Given the description of an element on the screen output the (x, y) to click on. 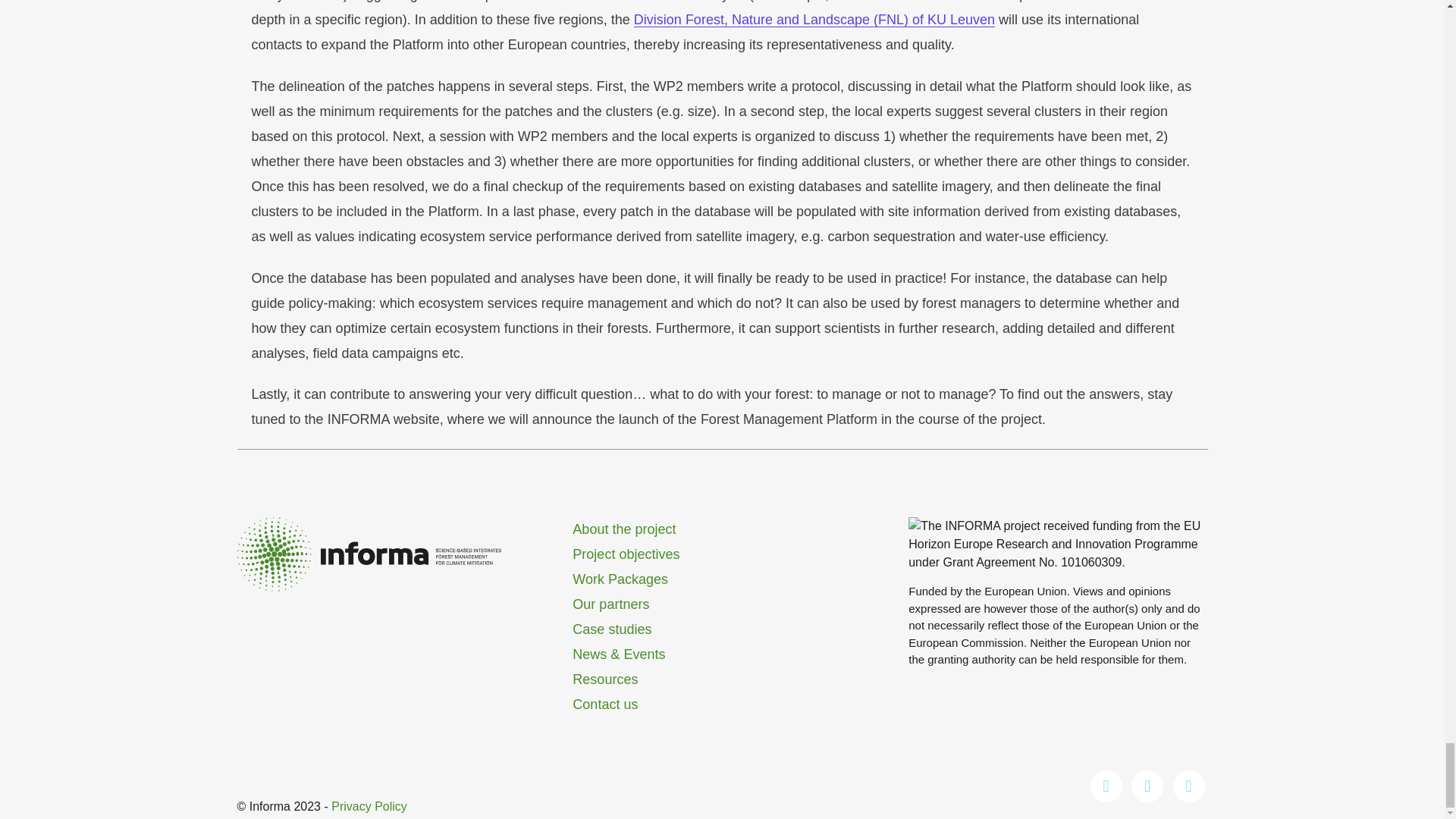
Privacy Policy (369, 807)
